Given the description of an element on the screen output the (x, y) to click on. 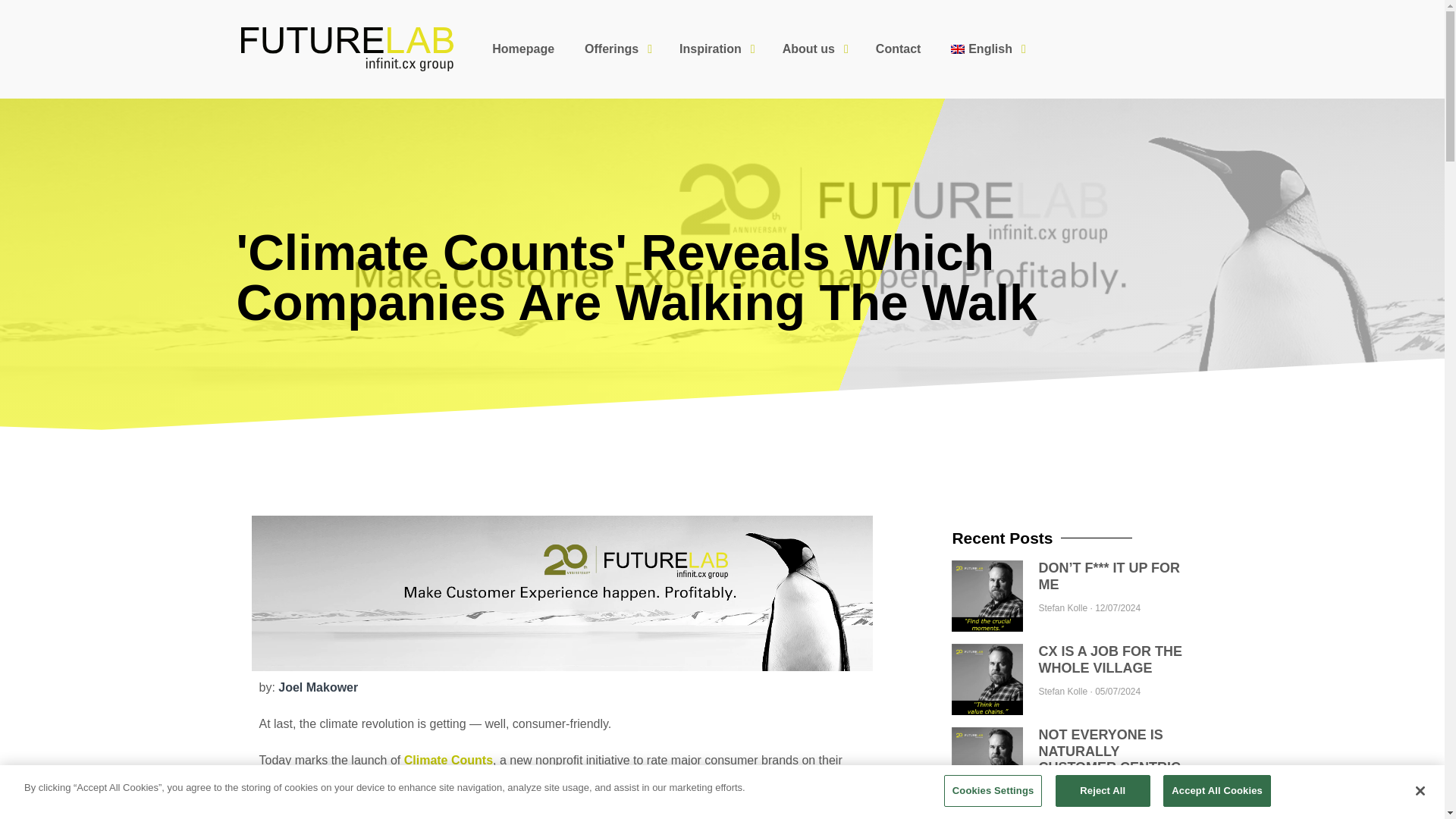
English (986, 48)
Inspiration (715, 48)
Contact (898, 48)
Homepage (523, 48)
About us (813, 48)
English (986, 48)
Offerings (616, 48)
Joel Makower (318, 686)
